Given the description of an element on the screen output the (x, y) to click on. 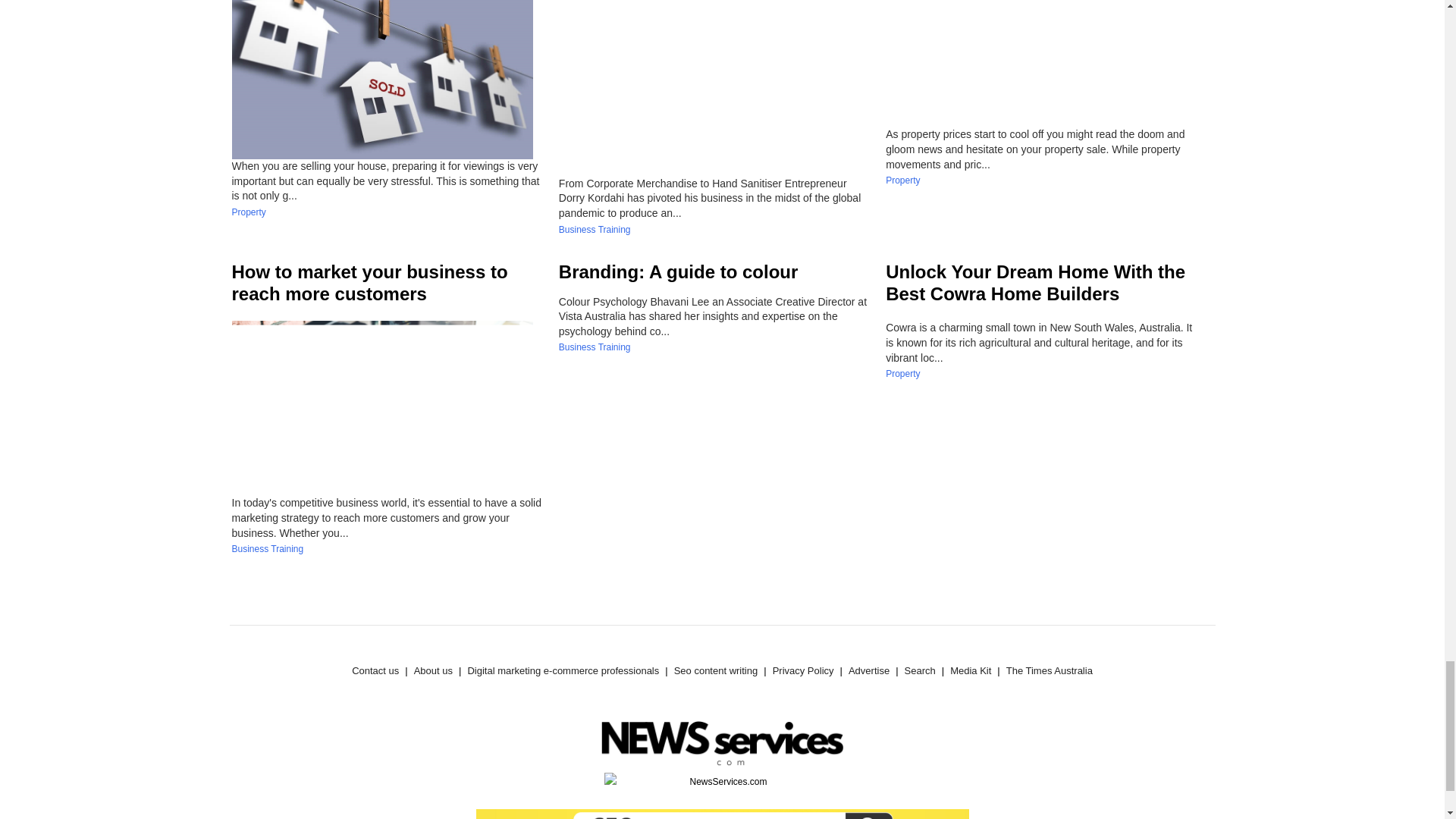
How to market your business to reach more customers (369, 282)
Unlock Your Dream Home With the Best Cowra Home Builders (1035, 282)
Branding: A guide to colour (678, 271)
